Given the description of an element on the screen output the (x, y) to click on. 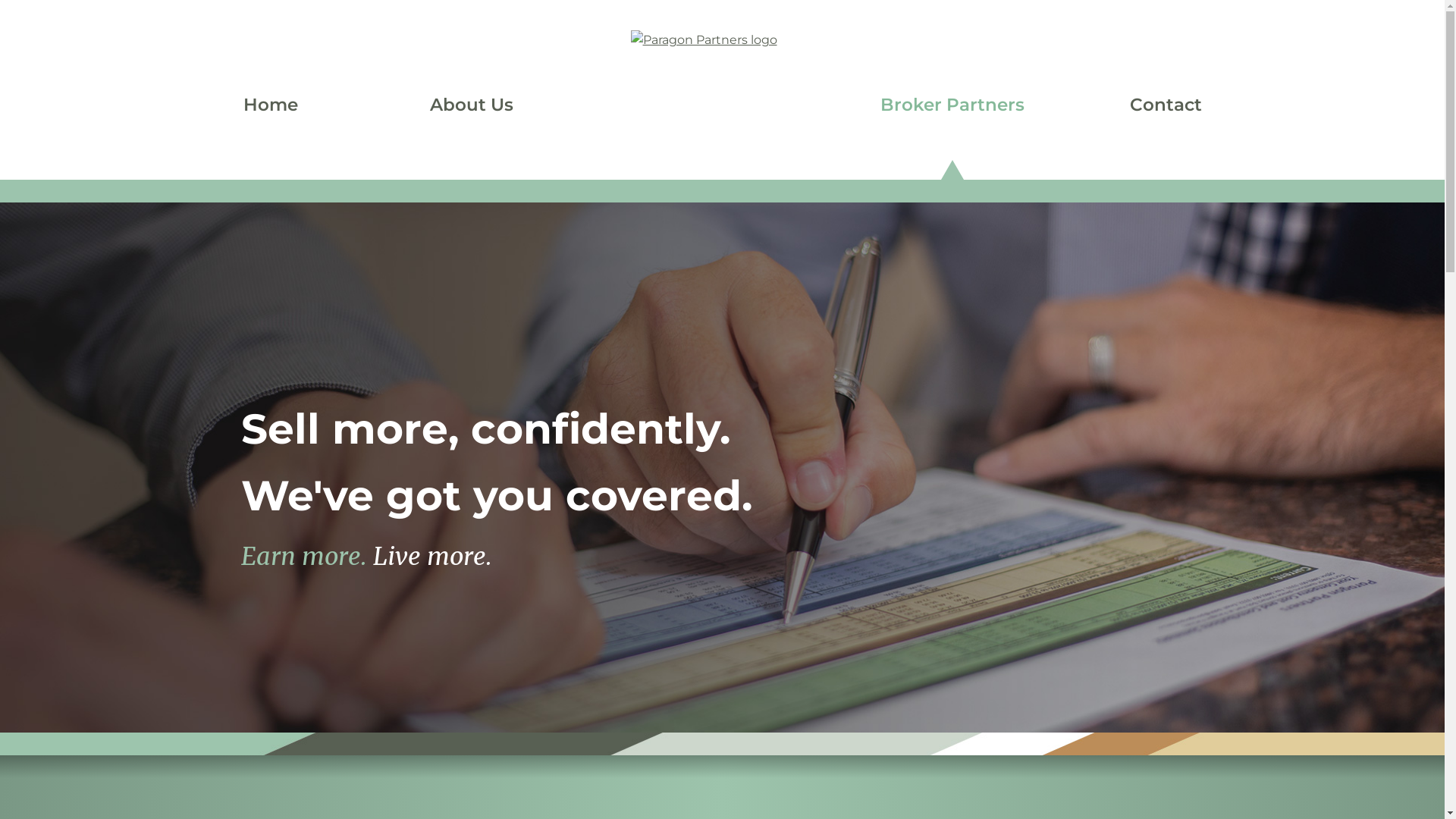
About Us Element type: text (470, 105)
Contact Element type: text (1165, 105)
Home Element type: text (269, 105)
Broker Partners Element type: text (951, 105)
